Given the description of an element on the screen output the (x, y) to click on. 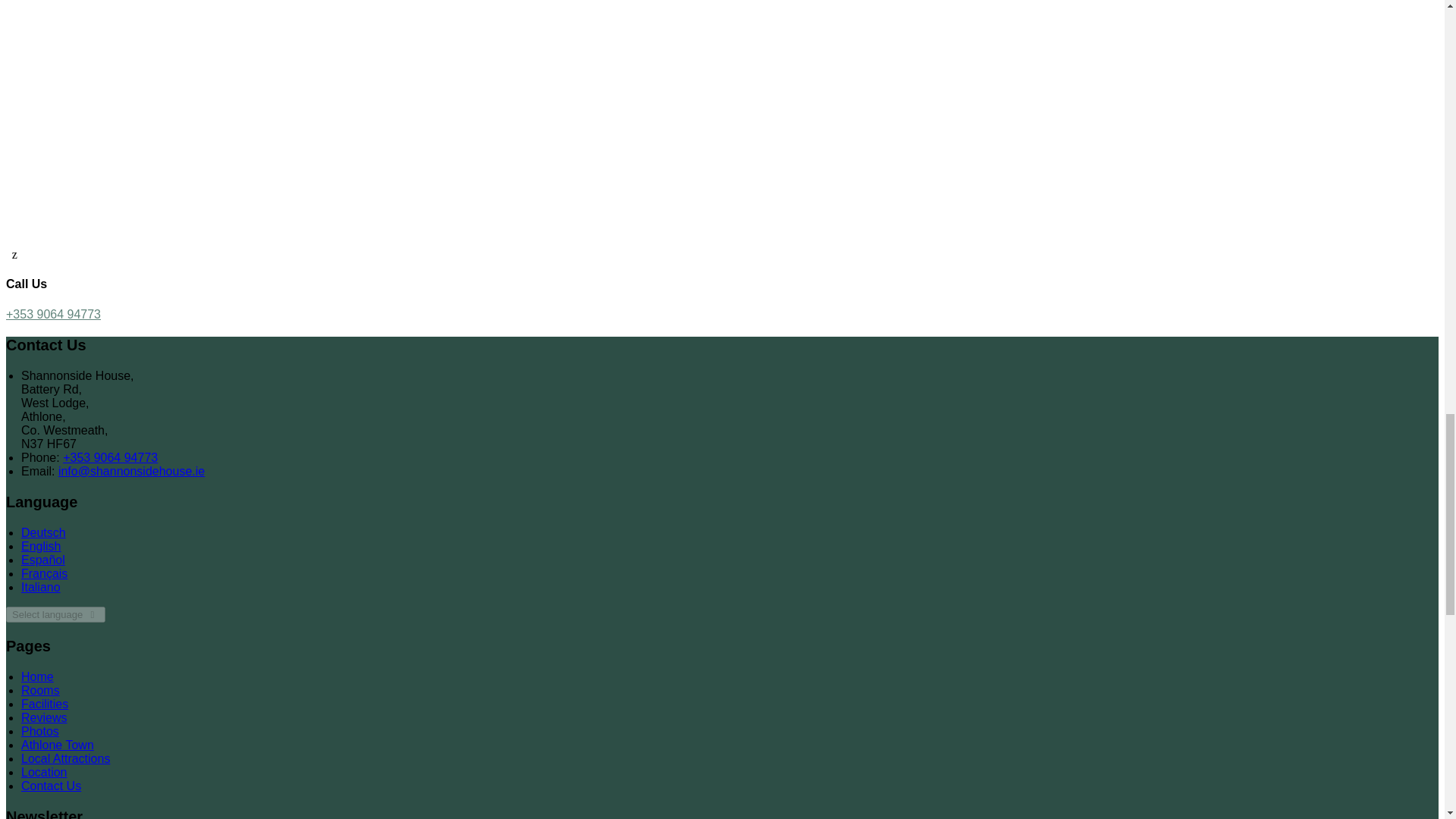
Deutsch (43, 532)
English (41, 545)
Italiano (41, 586)
